Given the description of an element on the screen output the (x, y) to click on. 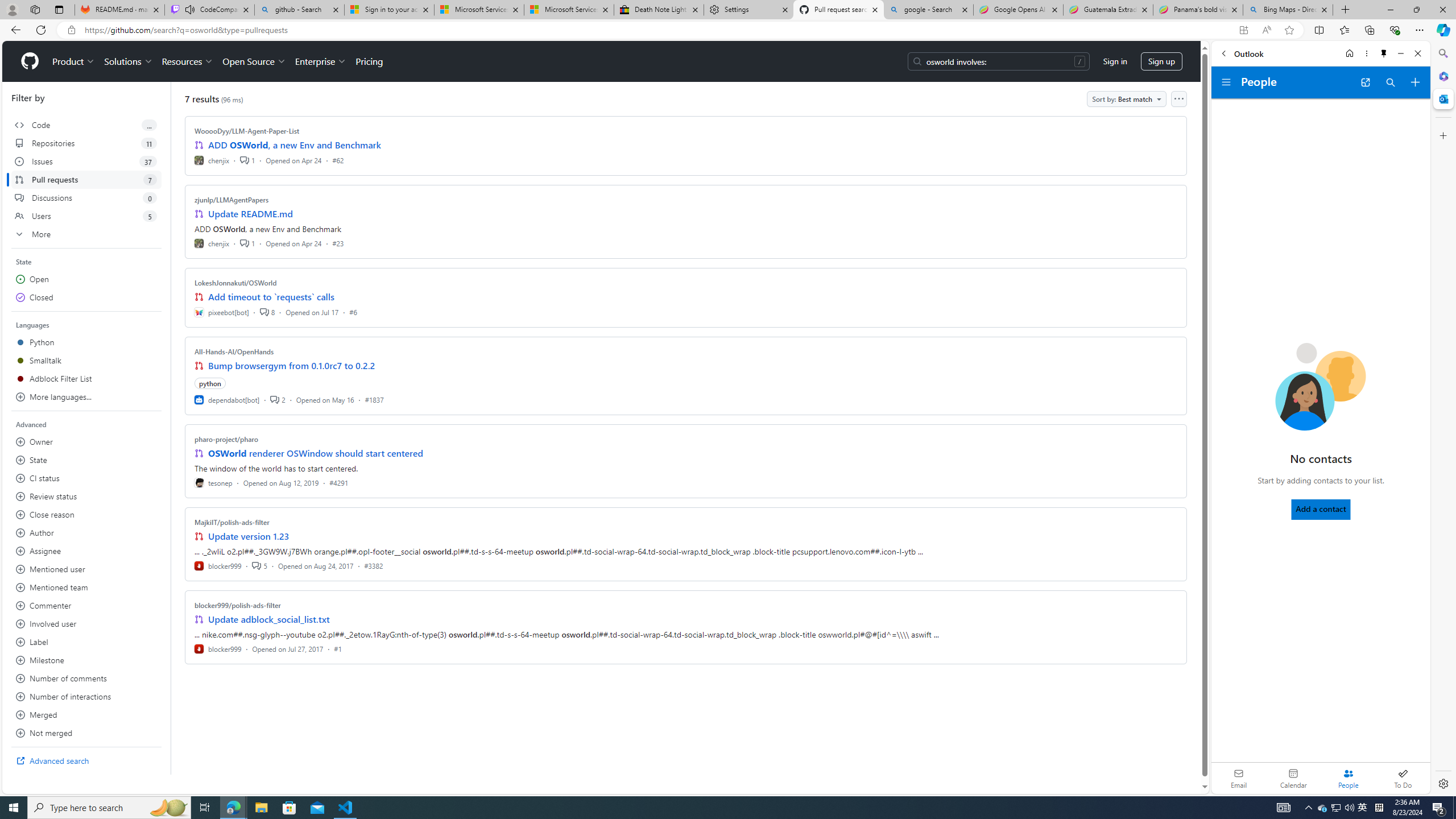
2 (277, 398)
Google Opens AI Academy for Startups - Nearshore Americas (1018, 9)
Open in new tab (1365, 82)
Resources (187, 60)
Solutions (128, 60)
Pricing (368, 60)
tesonep (213, 482)
5 (259, 565)
